Given the description of an element on the screen output the (x, y) to click on. 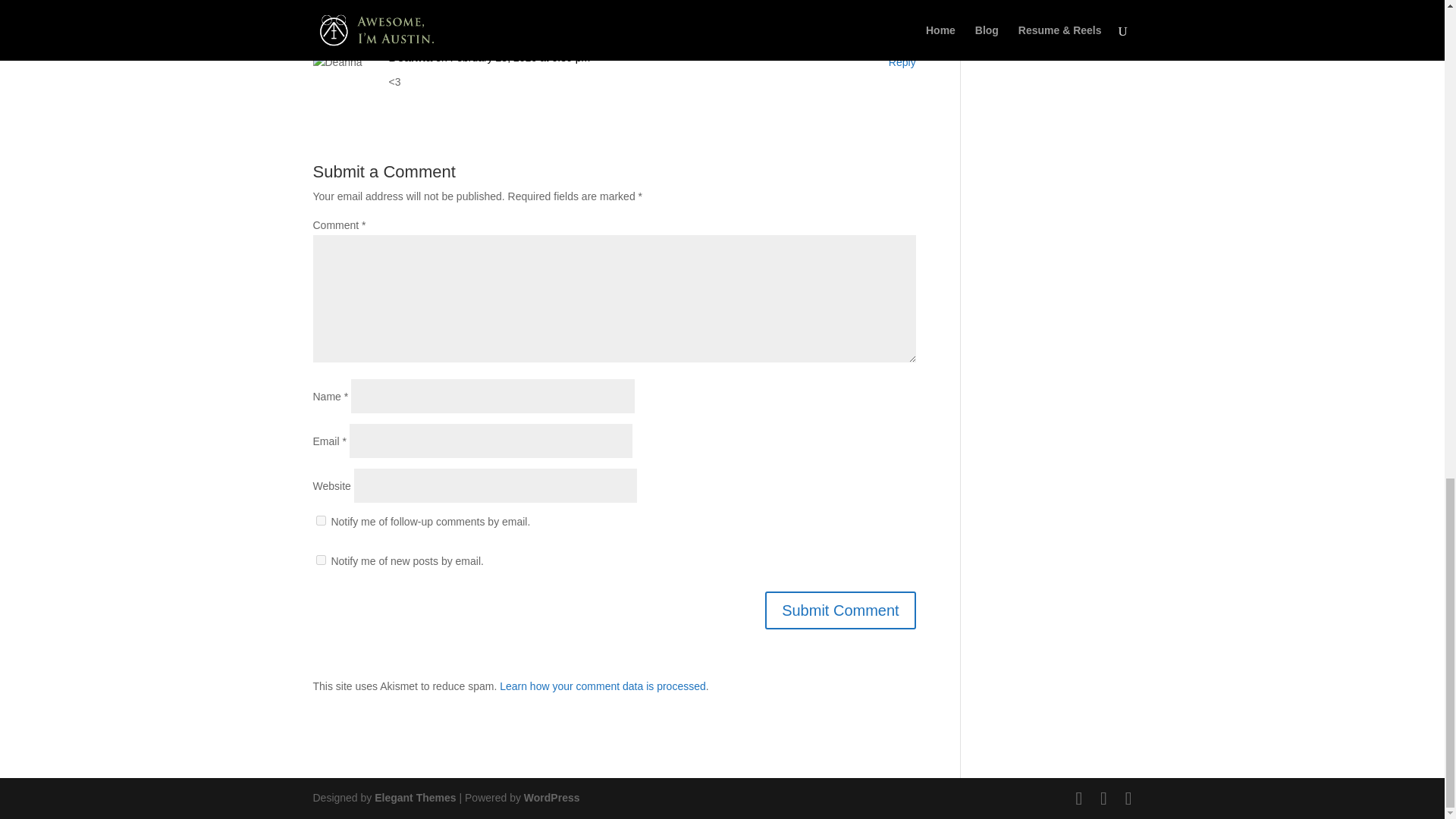
Premium WordPress Themes (414, 797)
Submit Comment (840, 610)
Elegant Themes (414, 797)
subscribe (319, 520)
Learn how your comment data is processed (602, 686)
Submit Comment (840, 610)
subscribe (319, 560)
WordPress (551, 797)
Reply (901, 63)
